Given the description of an element on the screen output the (x, y) to click on. 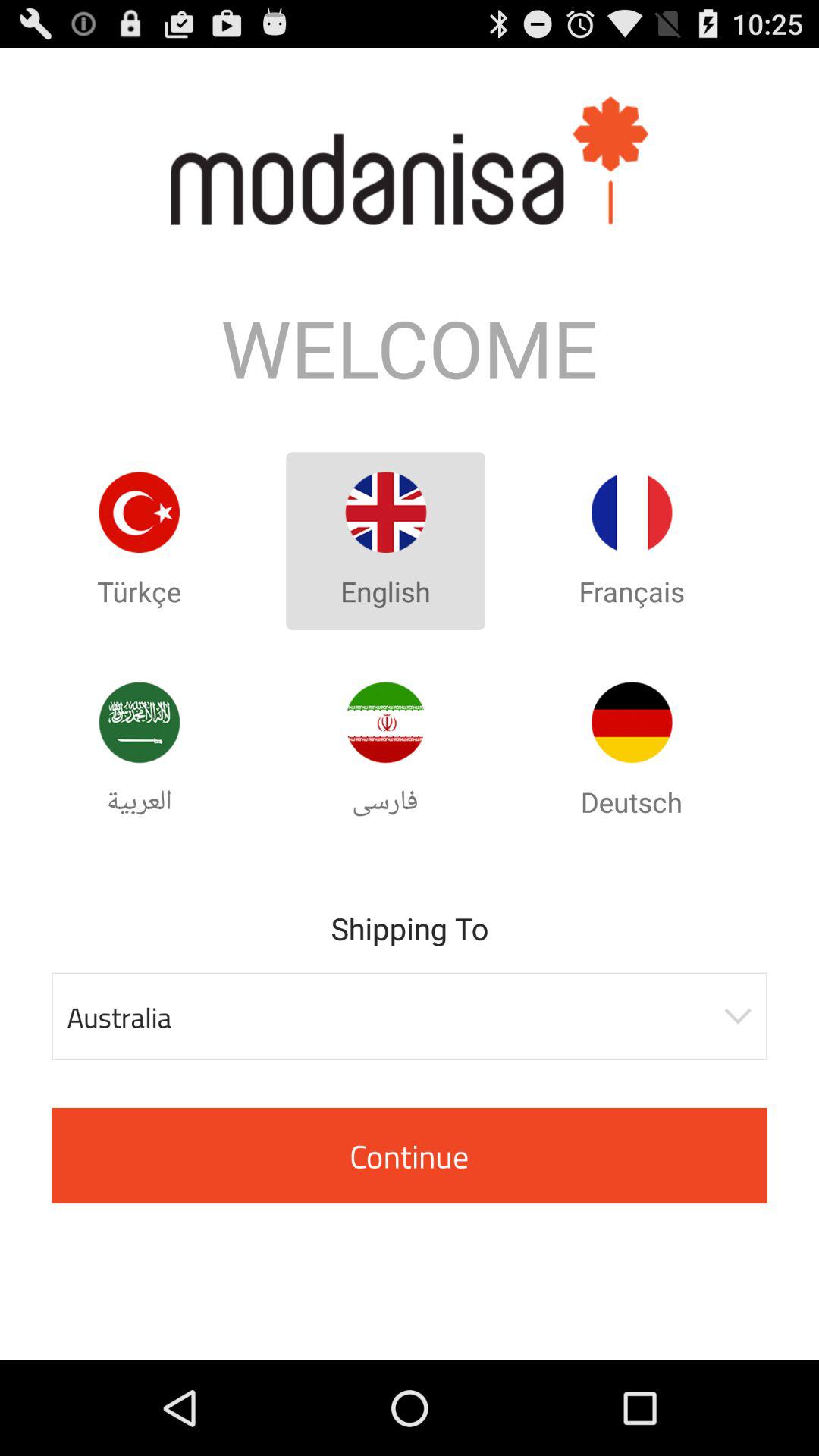
click the item above continue button (409, 1016)
